Given the description of an element on the screen output the (x, y) to click on. 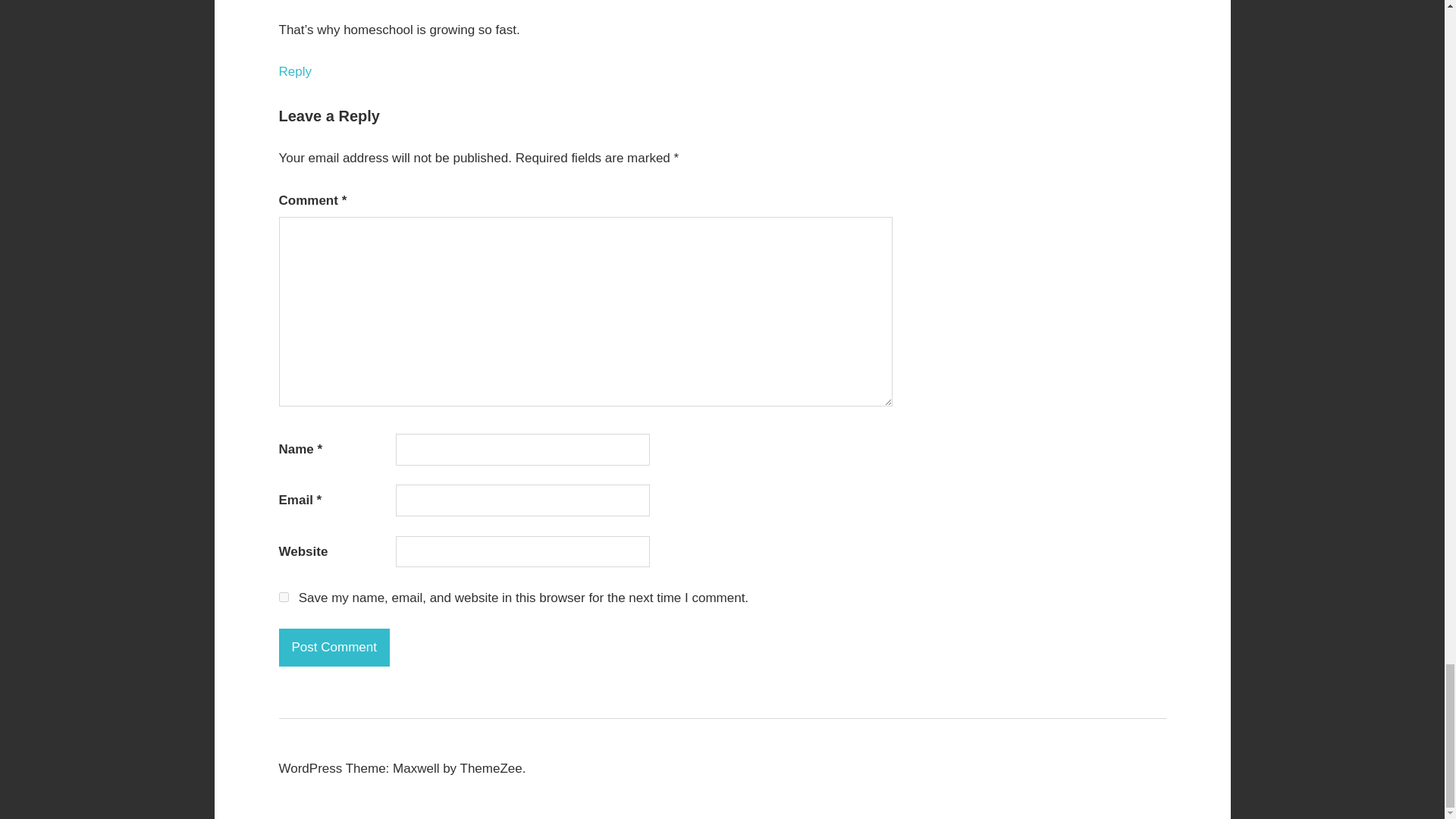
Post Comment (334, 647)
Reply (295, 71)
Post Comment (334, 647)
yes (283, 596)
